Given the description of an element on the screen output the (x, y) to click on. 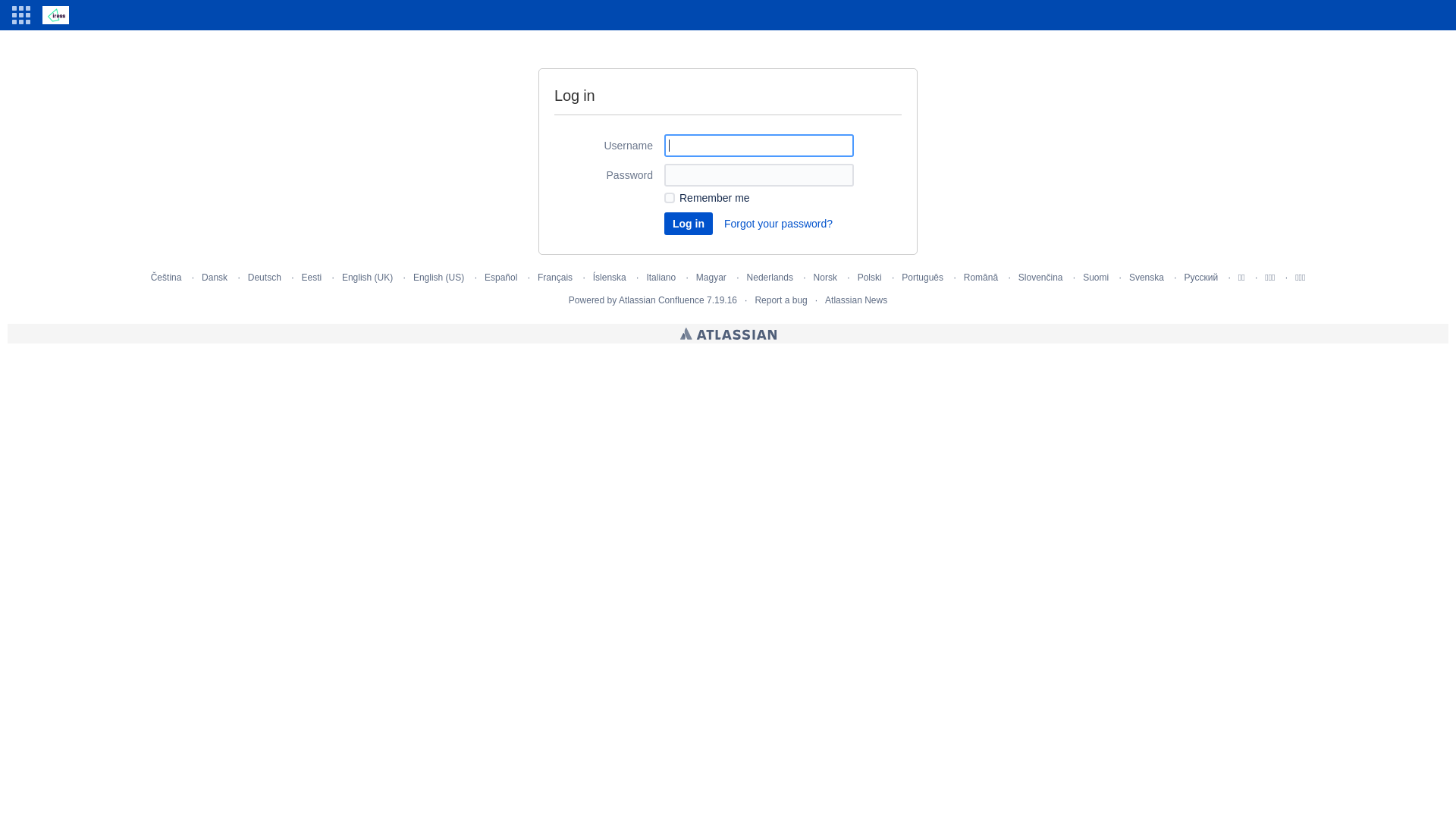
Atlassian News Element type: text (856, 299)
Forgot your password? Element type: text (778, 223)
Polski Element type: text (869, 277)
Svenska Element type: text (1146, 277)
Eesti Element type: text (311, 277)
Atlassian Confluence Element type: text (661, 299)
Linked Applications Element type: text (20, 15)
English (US) Element type: text (438, 277)
Report a bug Element type: text (780, 299)
Italiano Element type: text (660, 277)
Dansk Element type: text (214, 277)
Suomi Element type: text (1095, 277)
Norsk Element type: text (825, 277)
Deutsch Element type: text (264, 277)
Magyar Element type: text (711, 277)
Nederlands Element type: text (769, 277)
Atlassian Element type: text (727, 333)
Log in Element type: text (688, 223)
English (UK) Element type: text (367, 277)
